Given the description of an element on the screen output the (x, y) to click on. 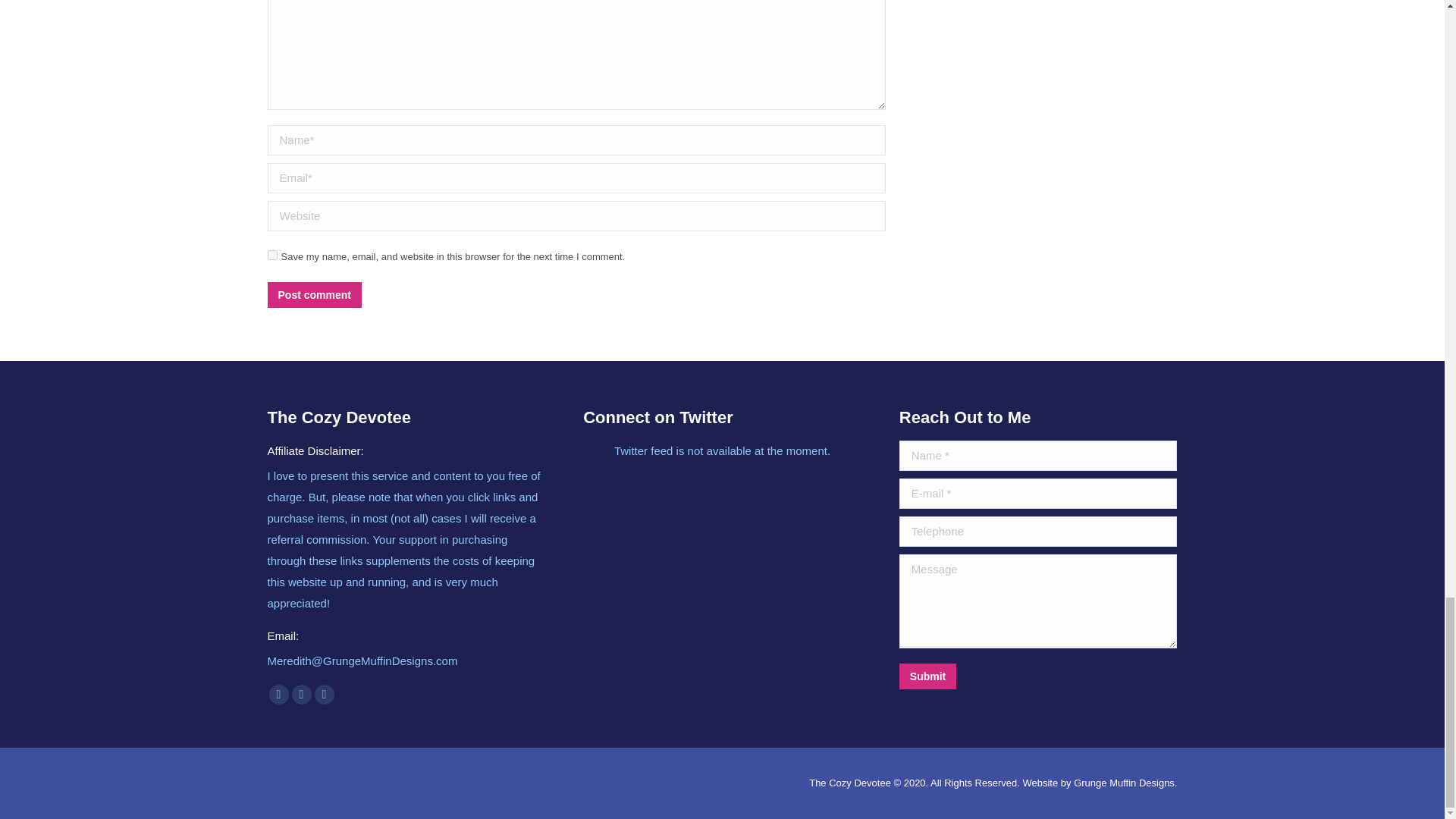
Website page opens in new window (323, 694)
submit (993, 677)
yes (271, 255)
Instagram page opens in new window (301, 694)
X page opens in new window (277, 694)
